Given the description of an element on the screen output the (x, y) to click on. 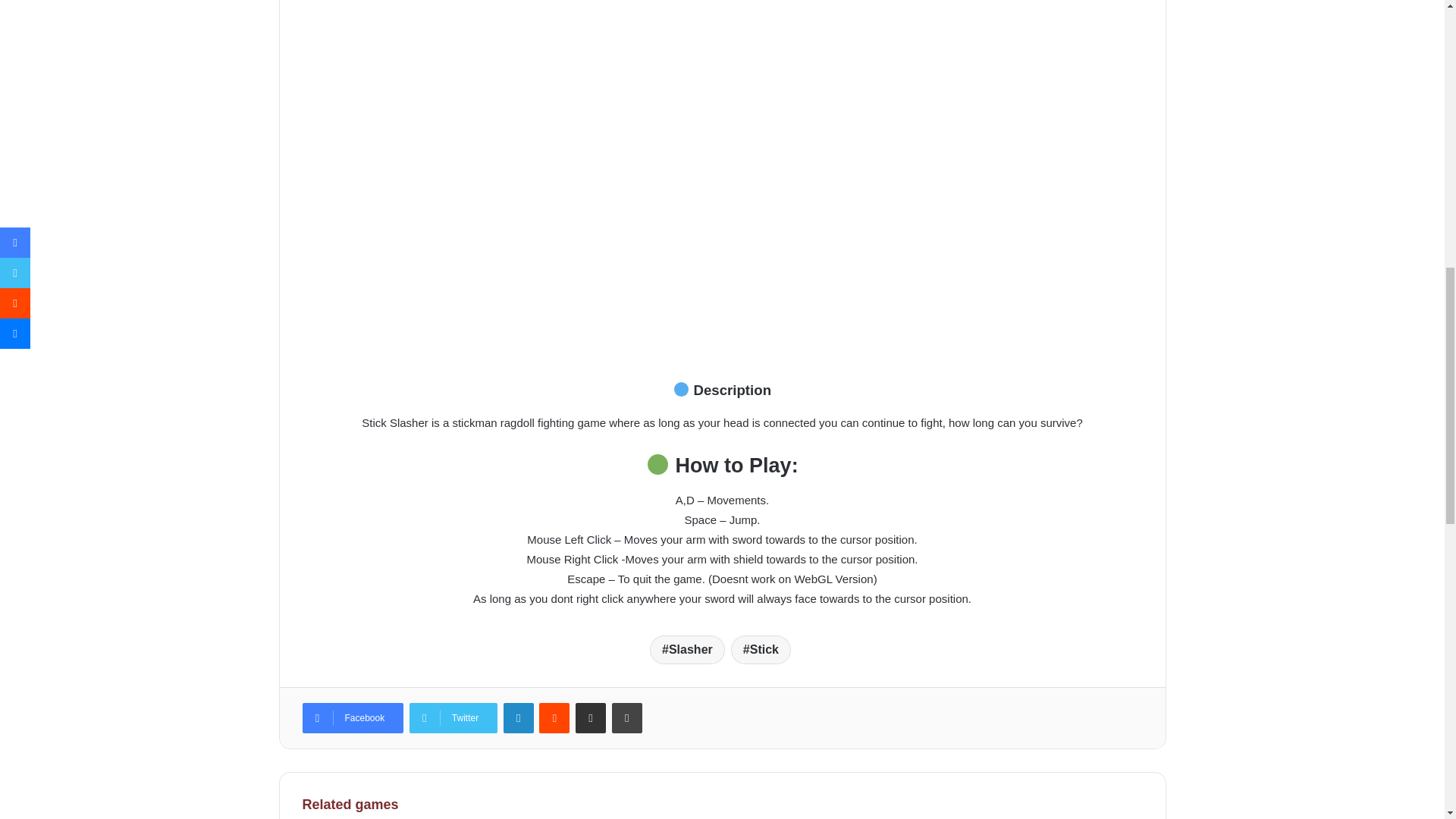
Print (626, 717)
Reddit (553, 717)
Twitter (453, 717)
LinkedIn (518, 717)
Stick (760, 649)
Facebook (352, 717)
Print (626, 717)
Twitter (453, 717)
Facebook (352, 717)
Share via Email (590, 717)
LinkedIn (518, 717)
Share via Email (590, 717)
Reddit (553, 717)
Slasher (687, 649)
